Given the description of an element on the screen output the (x, y) to click on. 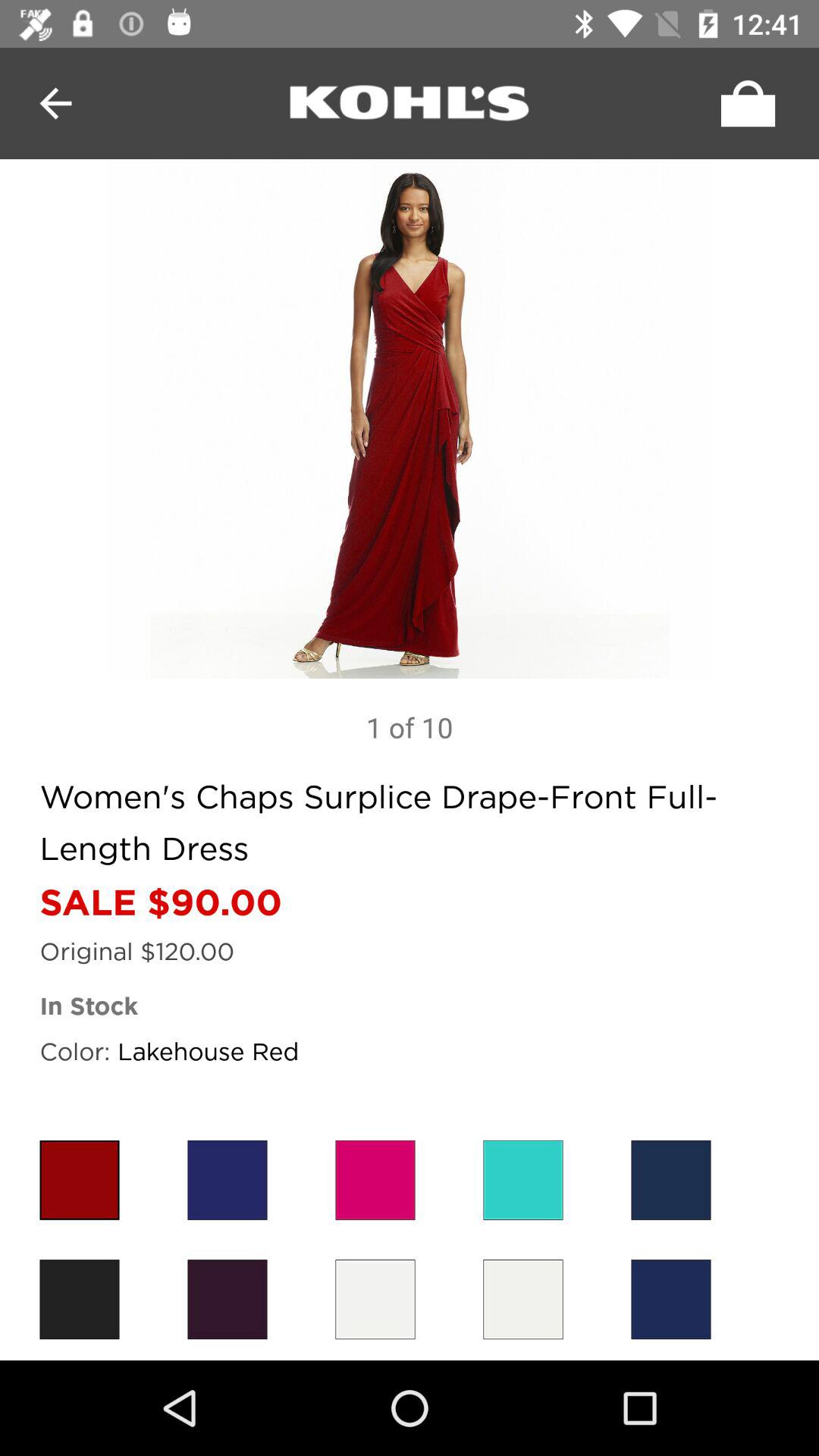
select color option (227, 1299)
